Given the description of an element on the screen output the (x, y) to click on. 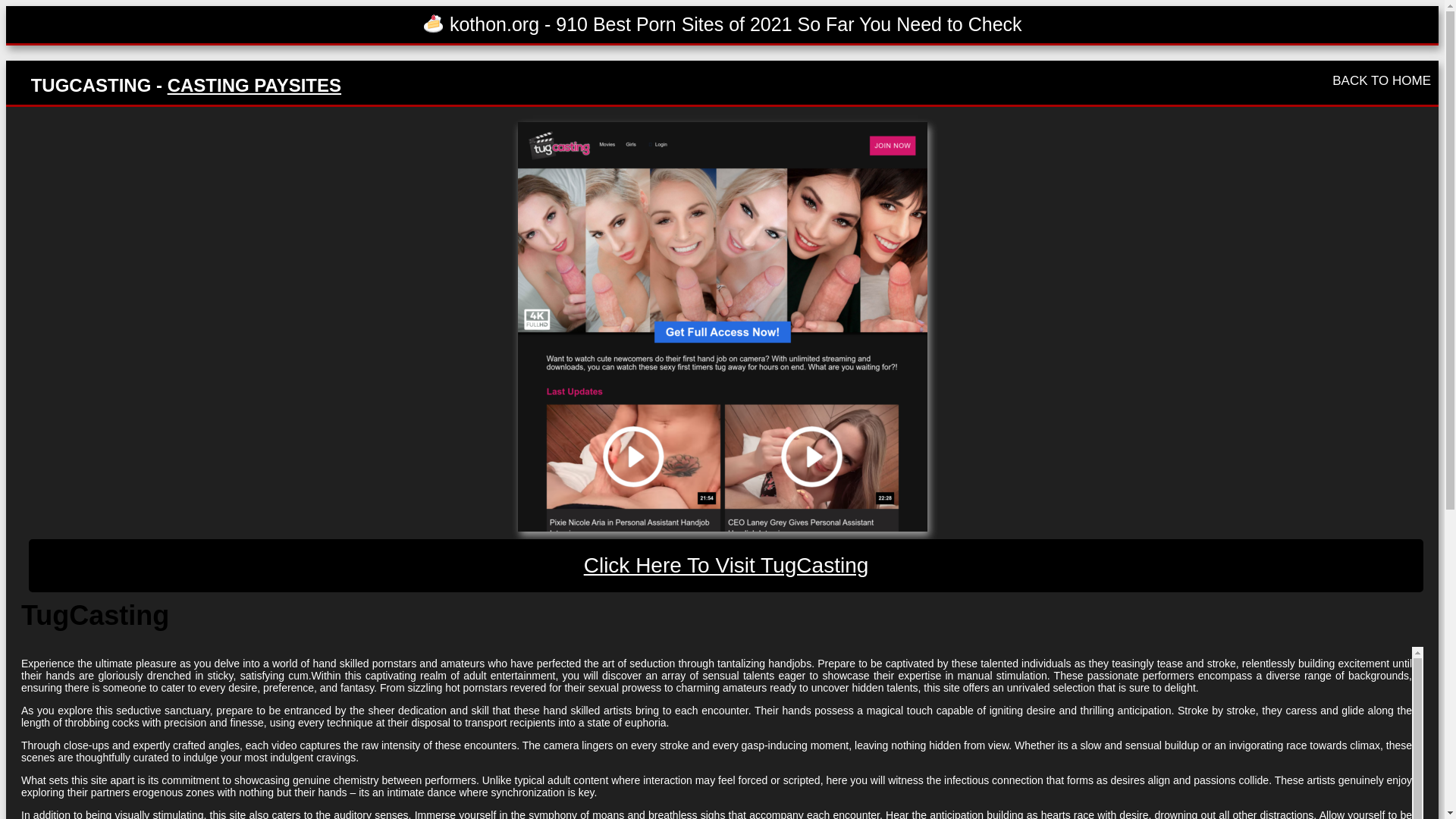
Click Here To Visit TugCasting (726, 565)
TugCasting (726, 565)
BACK TO HOME (1381, 80)
CASTING PAYSITES (253, 85)
